Given the description of an element on the screen output the (x, y) to click on. 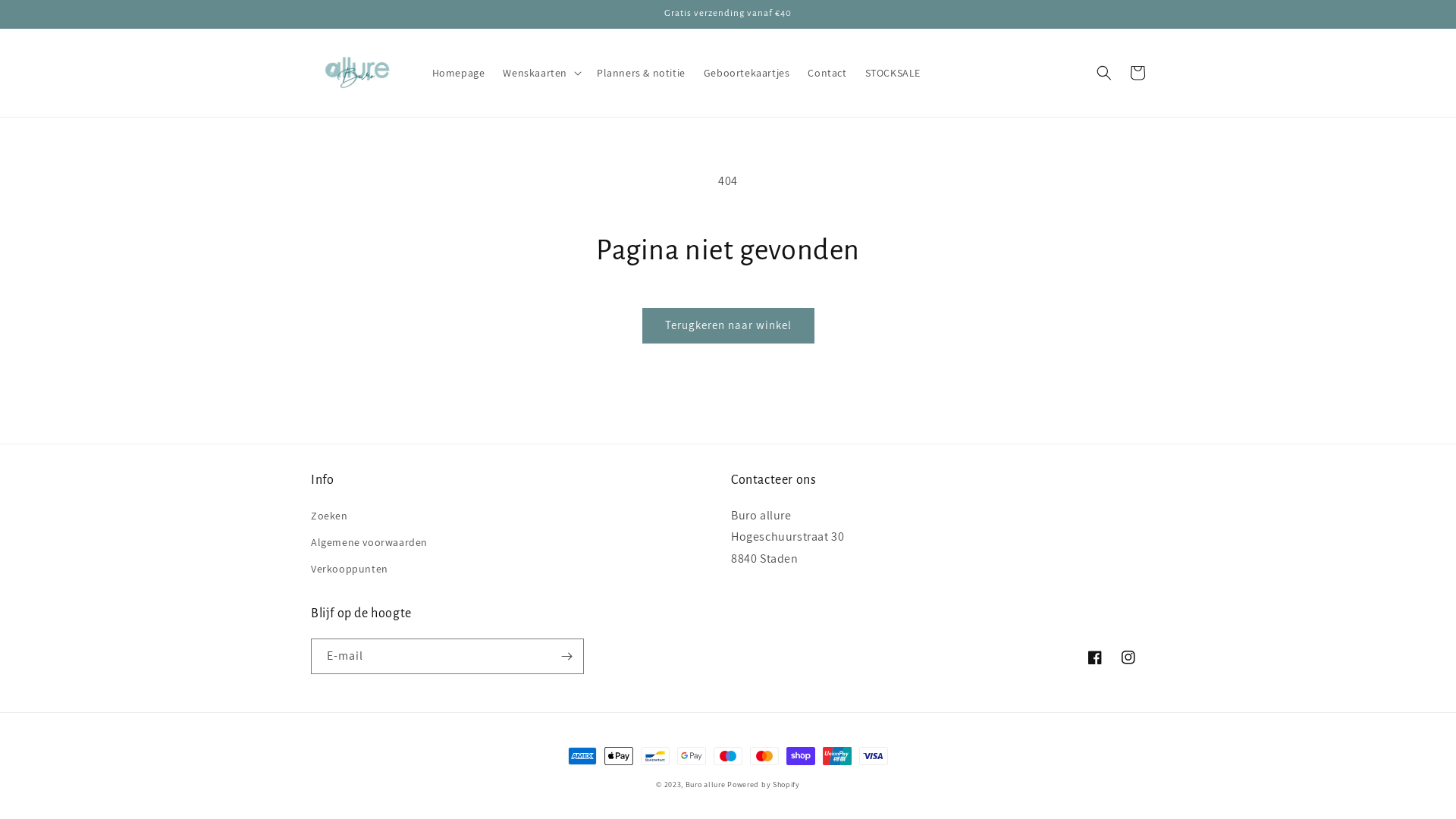
Winkelwagen Element type: text (1137, 72)
Zoeken Element type: text (329, 517)
Buro allure Element type: text (705, 784)
Verkooppunten Element type: text (349, 568)
Geboortekaartjes Element type: text (746, 72)
Contact Element type: text (826, 72)
Algemene voorwaarden Element type: text (368, 542)
Instagram Element type: text (1128, 657)
Terugkeren naar winkel Element type: text (727, 325)
Planners & notitie Element type: text (640, 72)
Facebook Element type: text (1094, 657)
Homepage Element type: text (458, 72)
STOCKSALE Element type: text (892, 72)
